Given the description of an element on the screen output the (x, y) to click on. 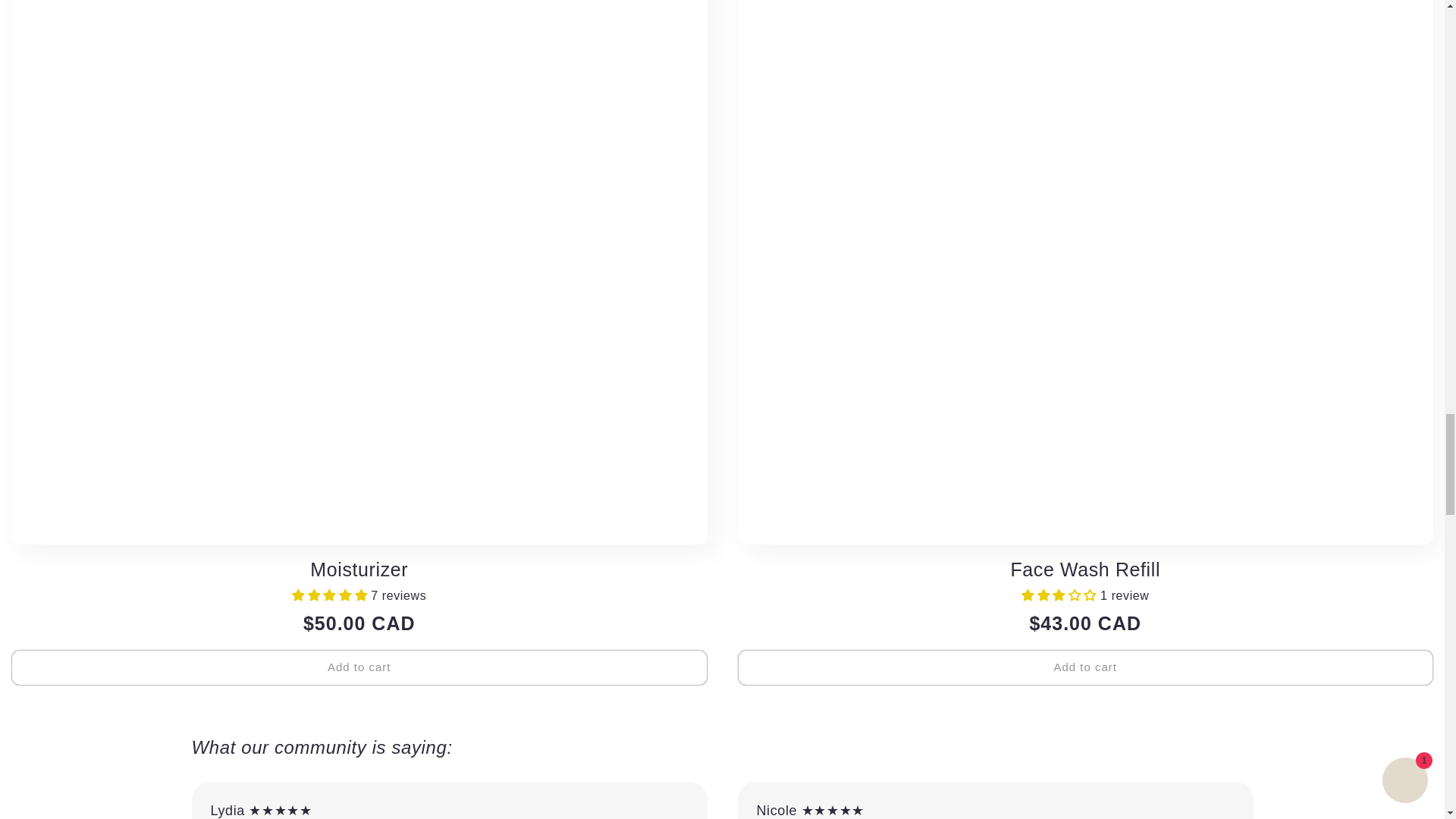
Moisturizer (359, 569)
